Given the description of an element on the screen output the (x, y) to click on. 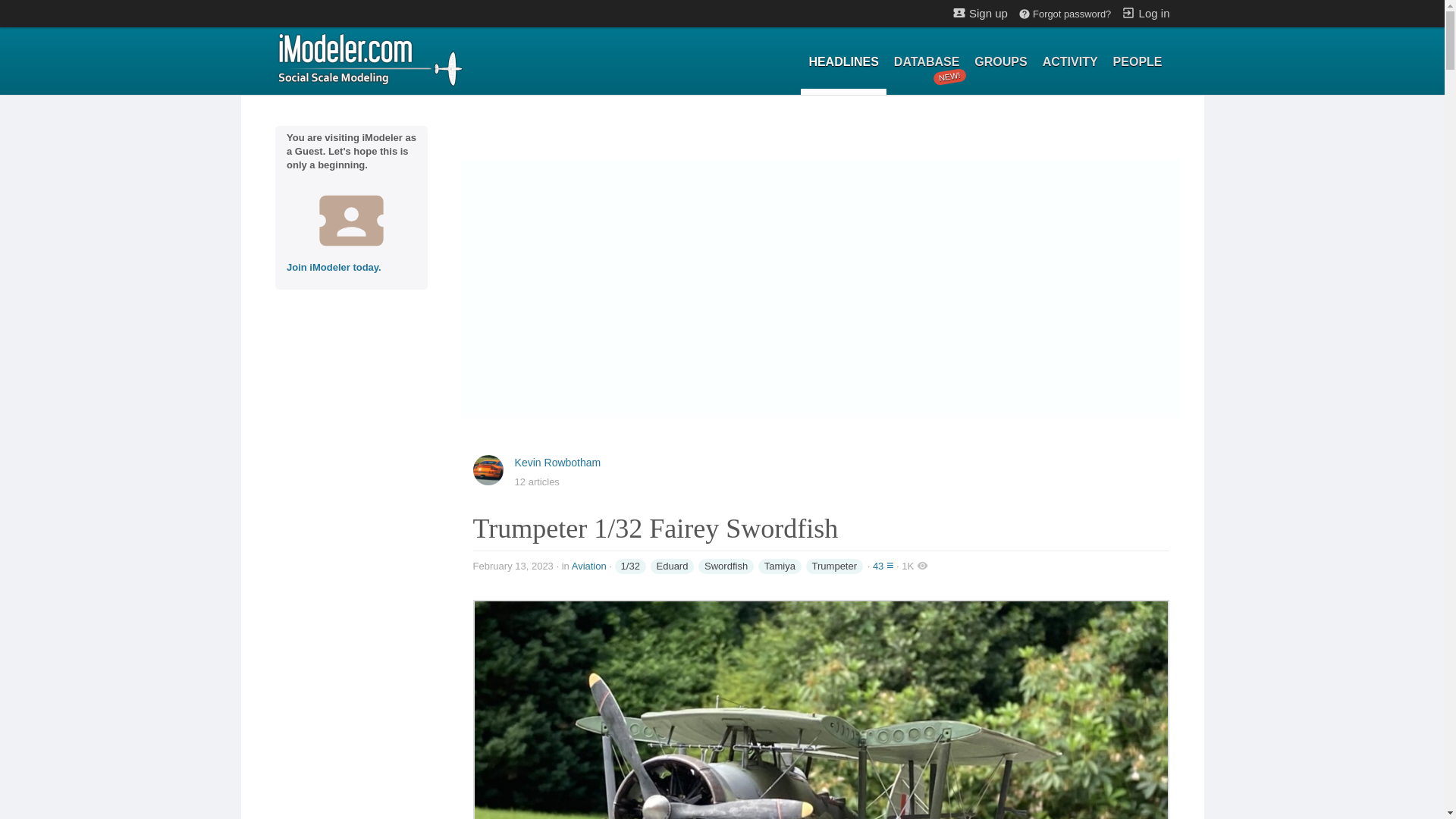
GROUPS (927, 61)
Home (999, 61)
Kevin Rowbotham (369, 58)
ACTIVITY (558, 462)
Trumpeter (1070, 61)
Advertisement (834, 566)
Tamiya (589, 565)
Sign up (780, 566)
PEOPLE (979, 12)
Eduard (1137, 61)
Log in (672, 566)
Forgot password? (1145, 12)
Swordfish (1063, 13)
